Given the description of an element on the screen output the (x, y) to click on. 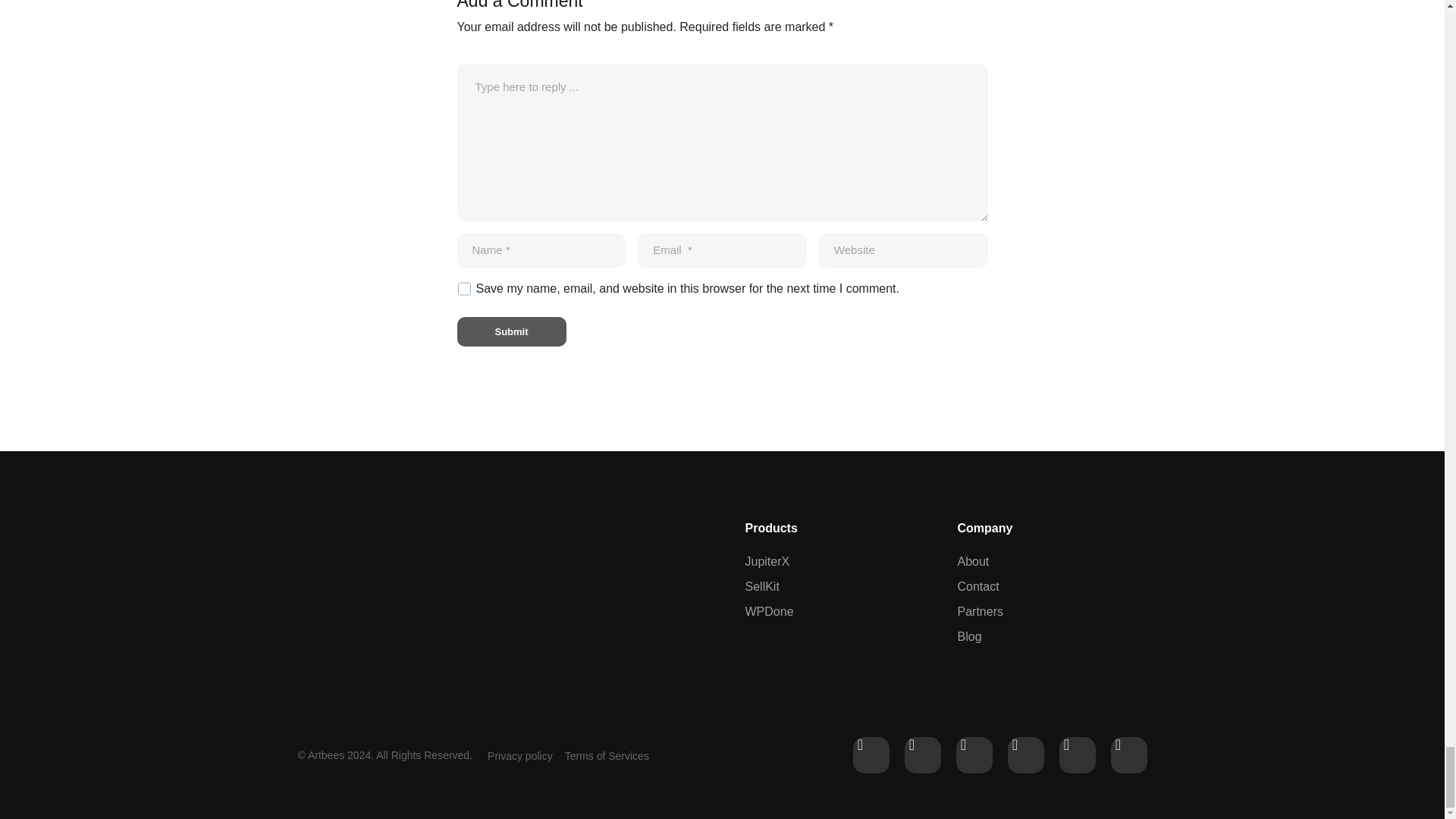
Submit (511, 331)
yes (462, 287)
WPDone (835, 611)
SellKit (835, 587)
JupiterX (835, 561)
